Given the description of an element on the screen output the (x, y) to click on. 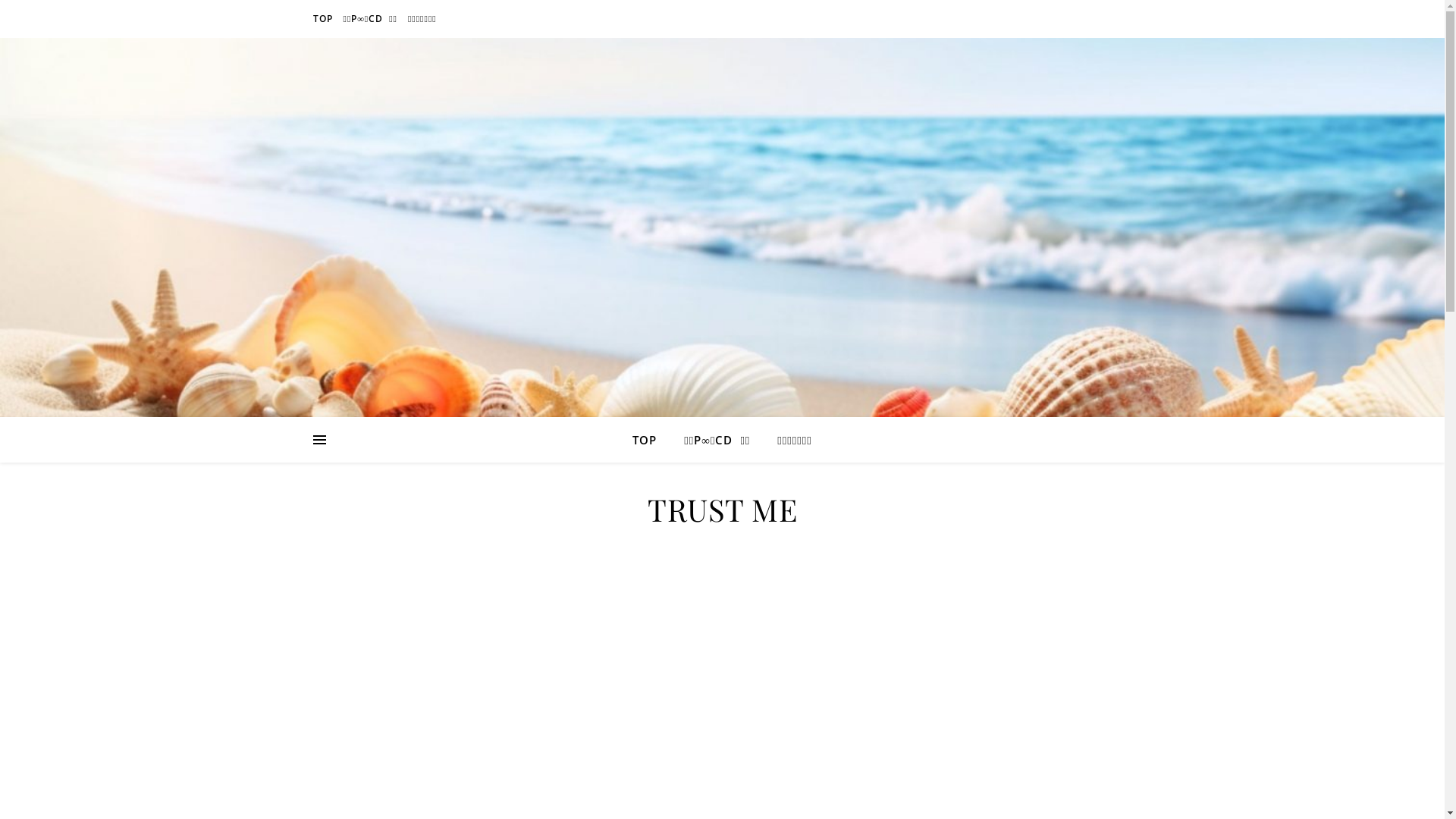
TOP Element type: text (650, 439)
TOP Element type: text (323, 18)
